Given the description of an element on the screen output the (x, y) to click on. 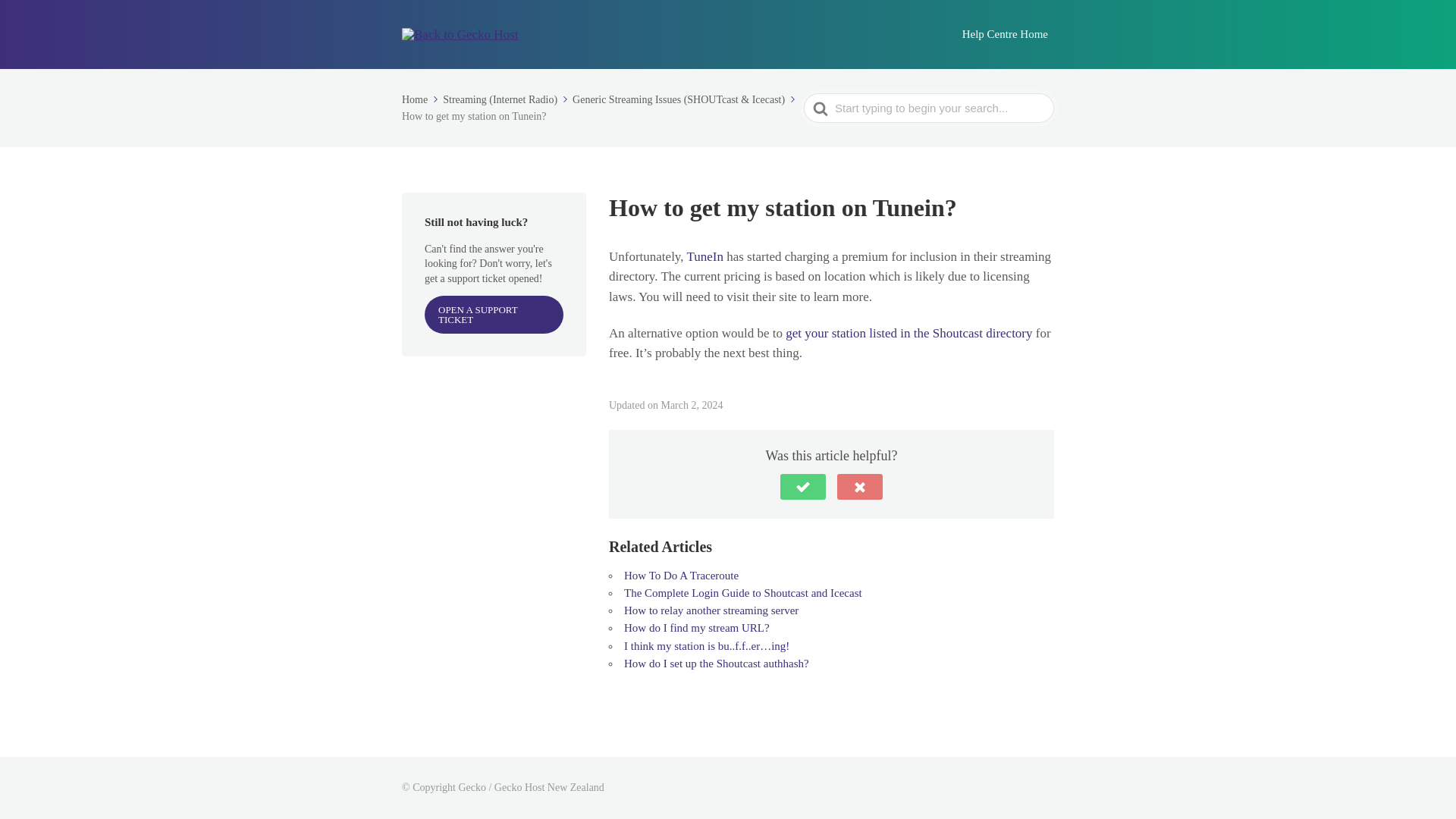
How To Do A Traceroute (681, 575)
How to relay another streaming server (710, 610)
How do I set up the Shoutcast authhash? (716, 663)
Home (421, 99)
get your station listed in the Shoutcast directory (909, 332)
OPEN A SUPPORT TICKET (494, 314)
Help Centre Home (1005, 33)
The Complete Login Guide to Shoutcast and Icecast (742, 592)
TuneIn (704, 256)
How do I find my stream URL? (697, 627)
